Given the description of an element on the screen output the (x, y) to click on. 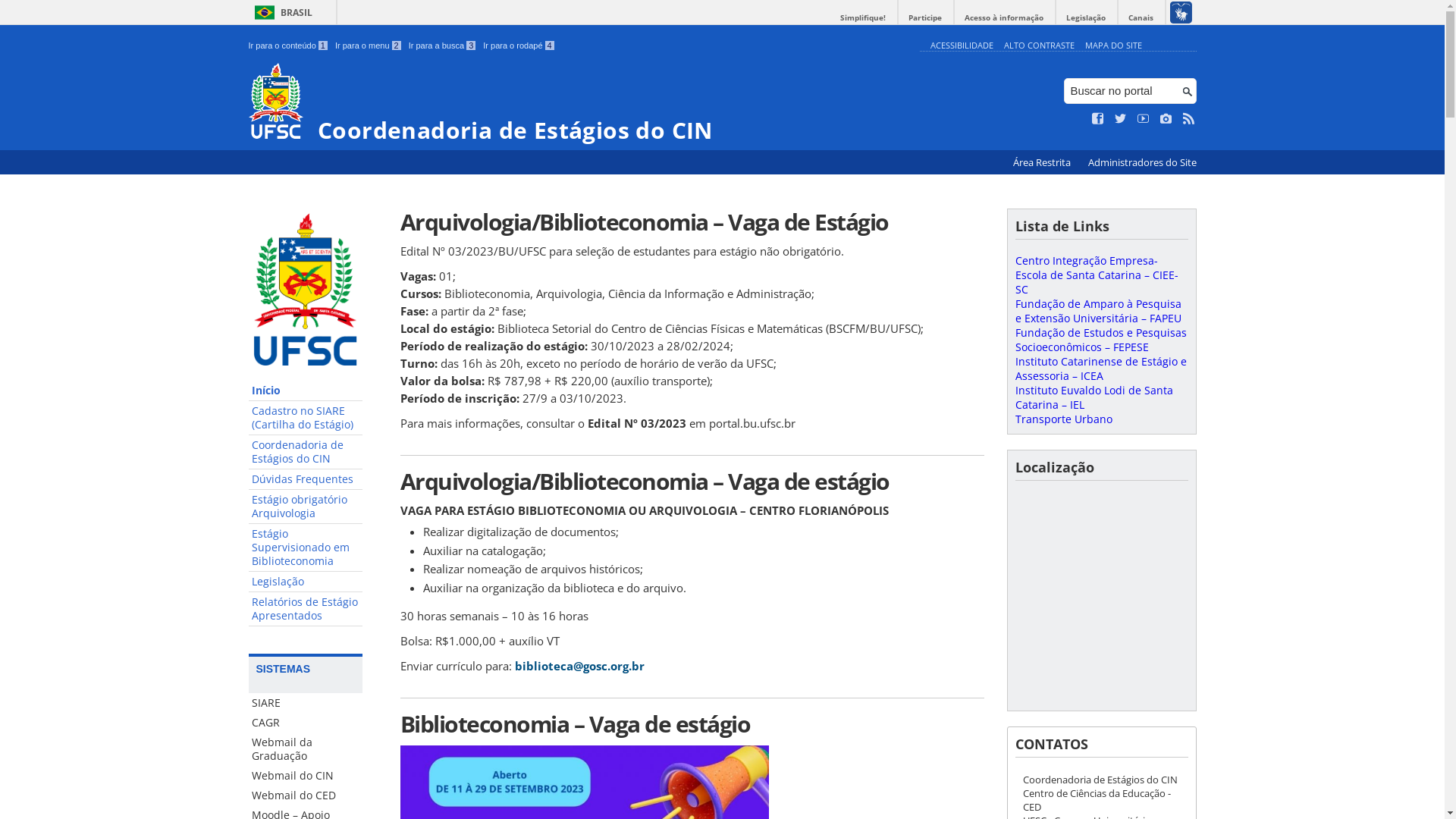
SIARE Element type: text (305, 702)
MAPA DO SITE Element type: text (1112, 44)
Ir para o menu 2 Element type: text (368, 45)
ACESSIBILIDADE Element type: text (960, 44)
Curta no Facebook Element type: hover (1098, 118)
ALTO CONTRASTE Element type: text (1039, 44)
Webmail do CED Element type: text (305, 795)
Ir para a busca 3 Element type: text (442, 45)
Participe Element type: text (924, 18)
CAGR Element type: text (305, 722)
Transporte Urbano Element type: text (1062, 418)
Administradores do Site Element type: text (1141, 162)
BRASIL Element type: text (280, 12)
Simplifique! Element type: text (862, 18)
Siga no Twitter Element type: hover (1120, 118)
Canais Element type: text (1140, 18)
biblioteca@gosc.org.br Element type: text (578, 665)
Veja no Instagram Element type: hover (1166, 118)
Webmail do CIN Element type: text (305, 775)
